Given the description of an element on the screen output the (x, y) to click on. 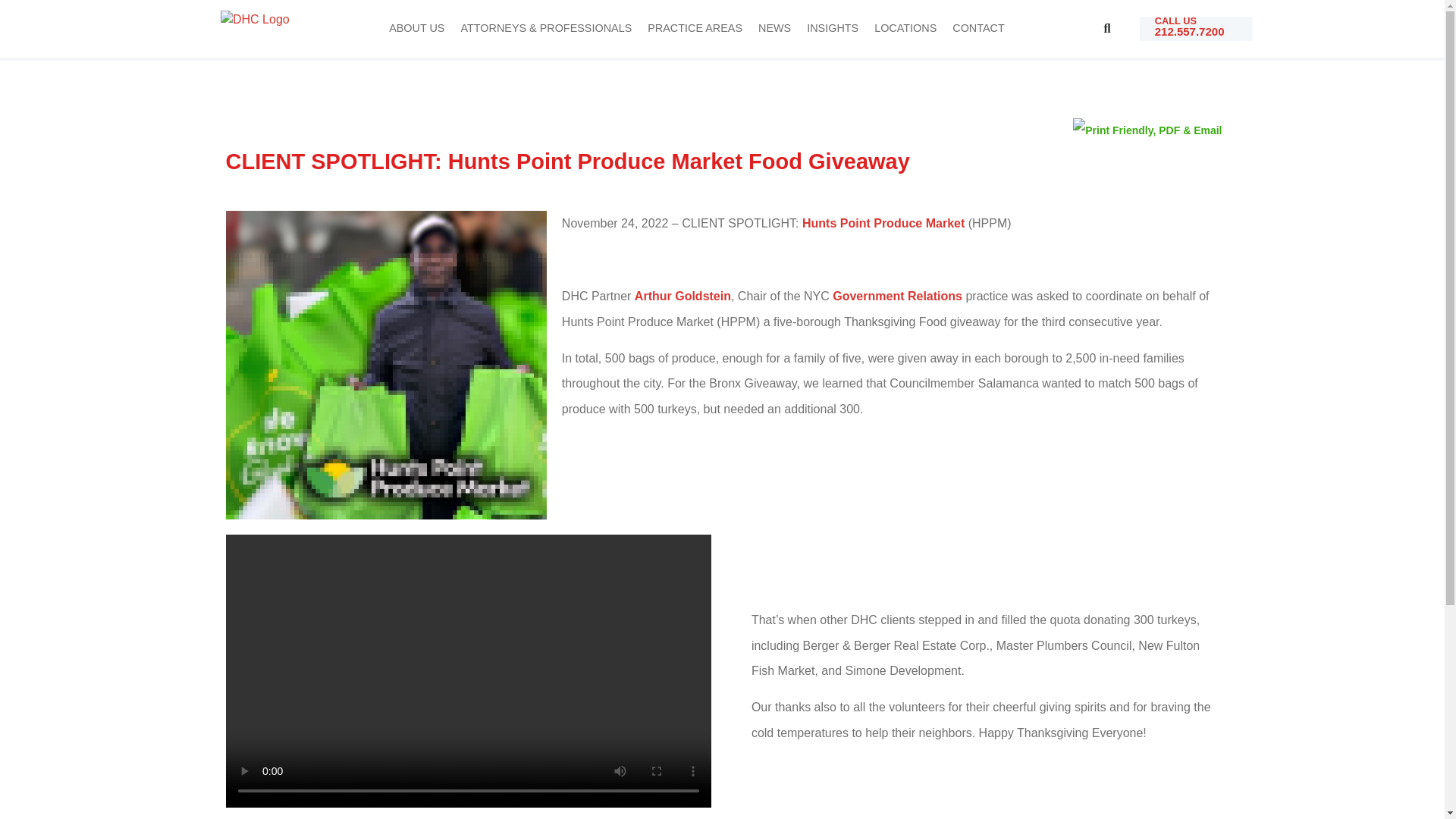
INSIGHTS (832, 28)
CONTACT (978, 28)
LOCATIONS (904, 28)
NEWS (774, 28)
ABOUT US (415, 28)
PRACTICE AREAS (695, 28)
